Given the description of an element on the screen output the (x, y) to click on. 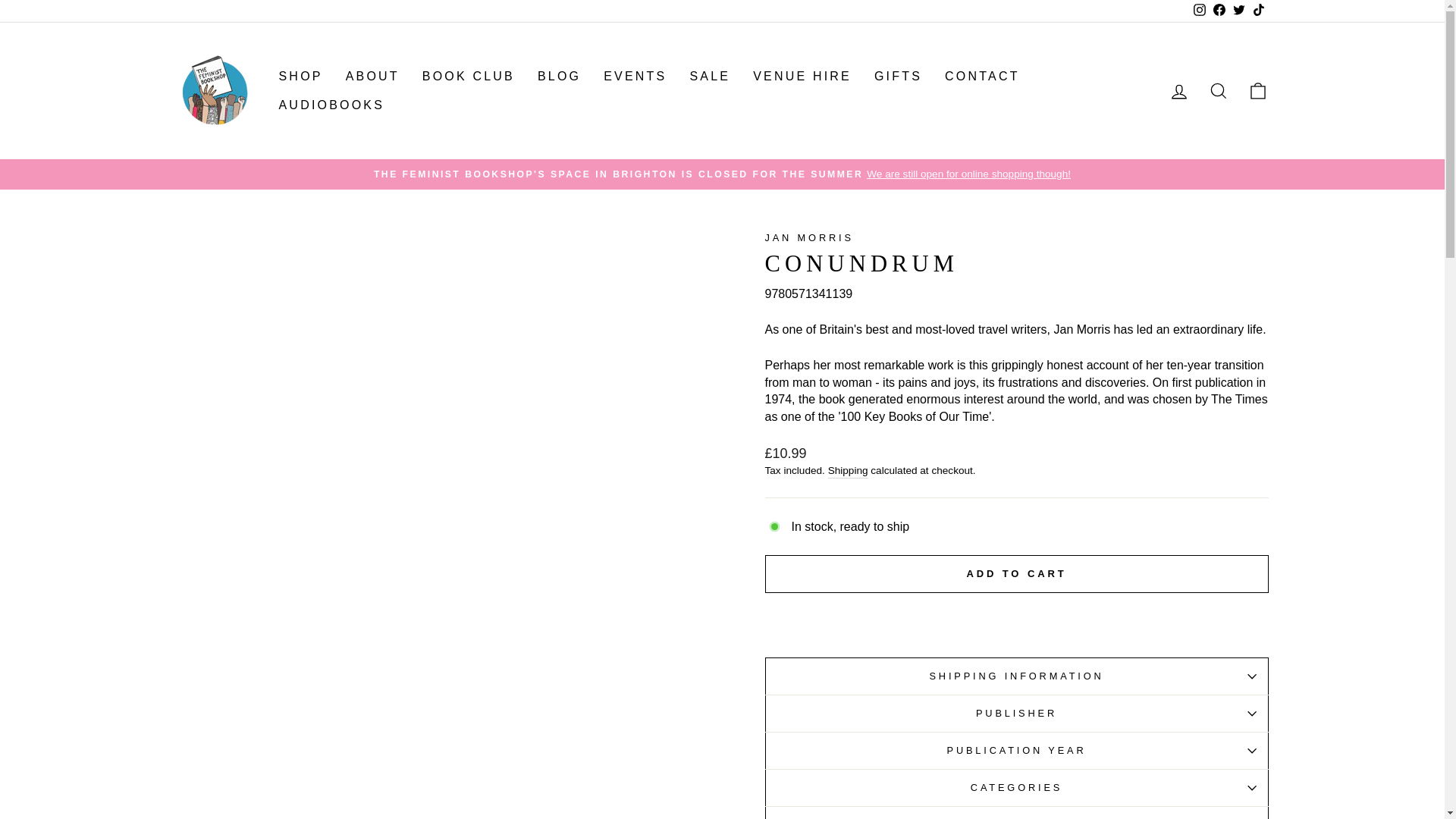
The Feminist Bookshop on Instagram (1198, 11)
The Feminist Bookshop on TikTok (1257, 11)
The Feminist Bookshop on Twitter (1237, 11)
Jan Morris (808, 237)
The Feminist Bookshop on Facebook (1218, 11)
